Given the description of an element on the screen output the (x, y) to click on. 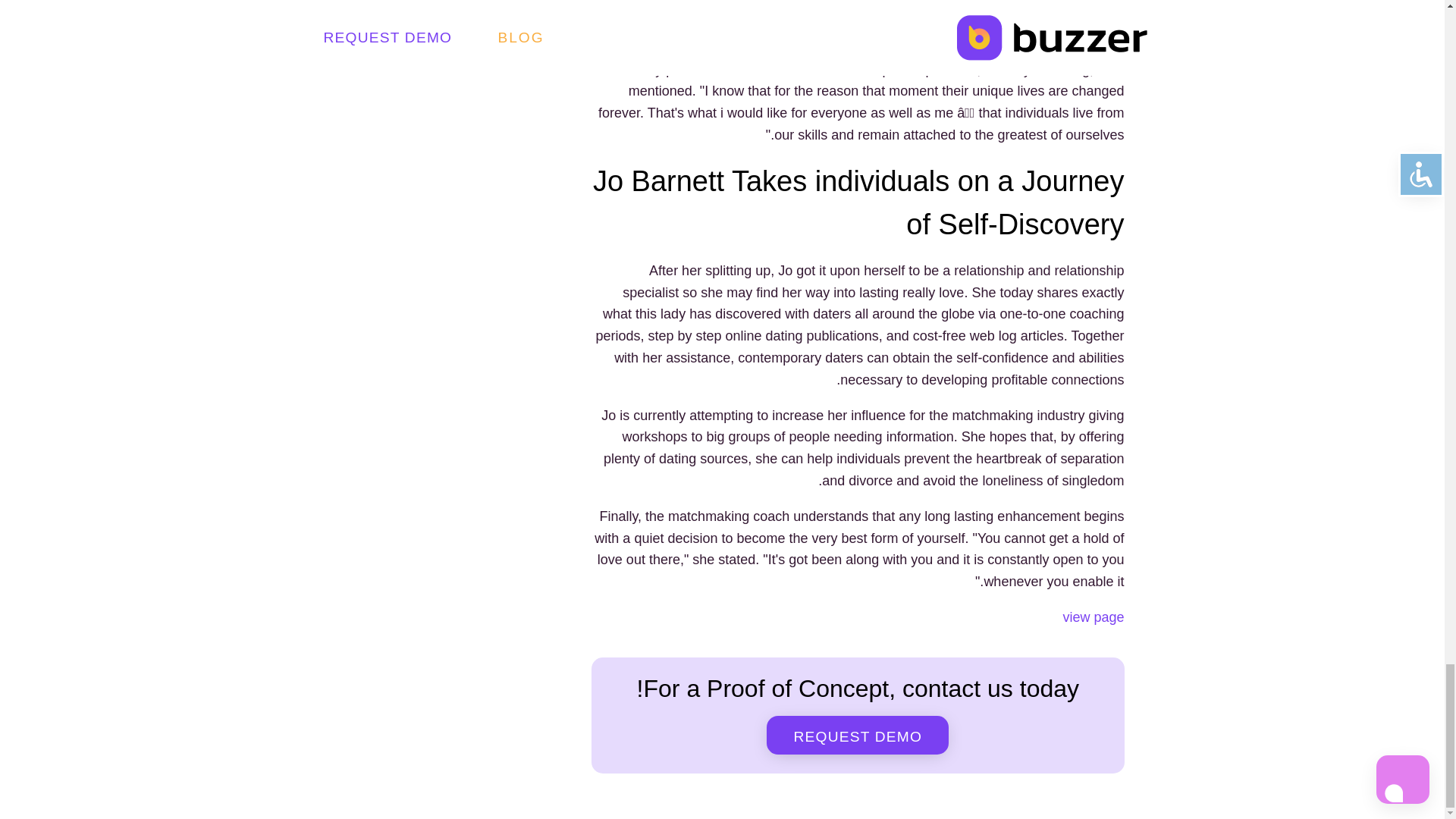
REQUEST DEMO (858, 734)
view page (1093, 616)
